Given the description of an element on the screen output the (x, y) to click on. 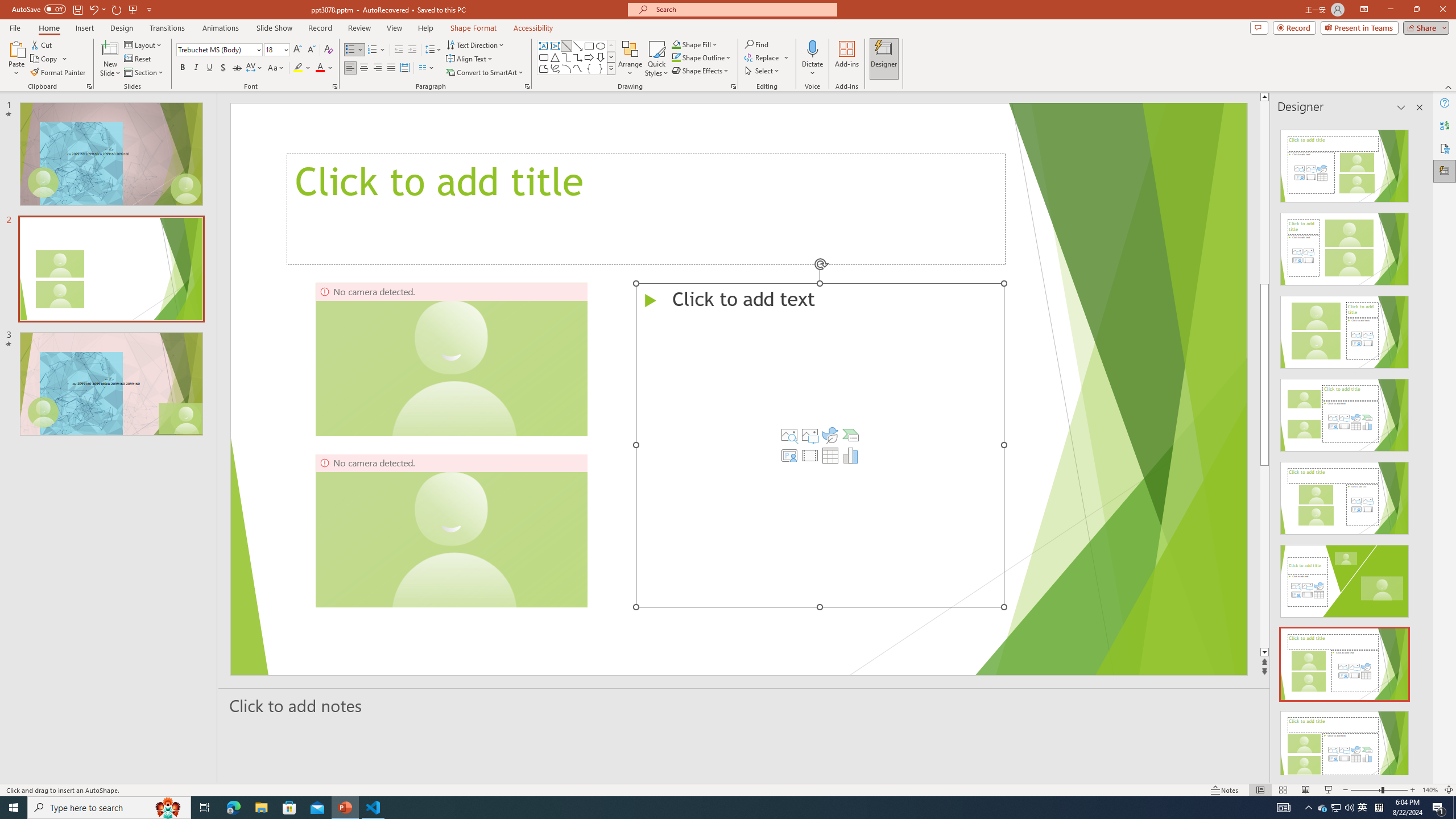
AutomationID: ShapesInsertGallery (576, 57)
Slide Notes (743, 705)
Reset (138, 58)
Isosceles Triangle (554, 57)
Insert Chart (850, 455)
Shadow (223, 67)
